Given the description of an element on the screen output the (x, y) to click on. 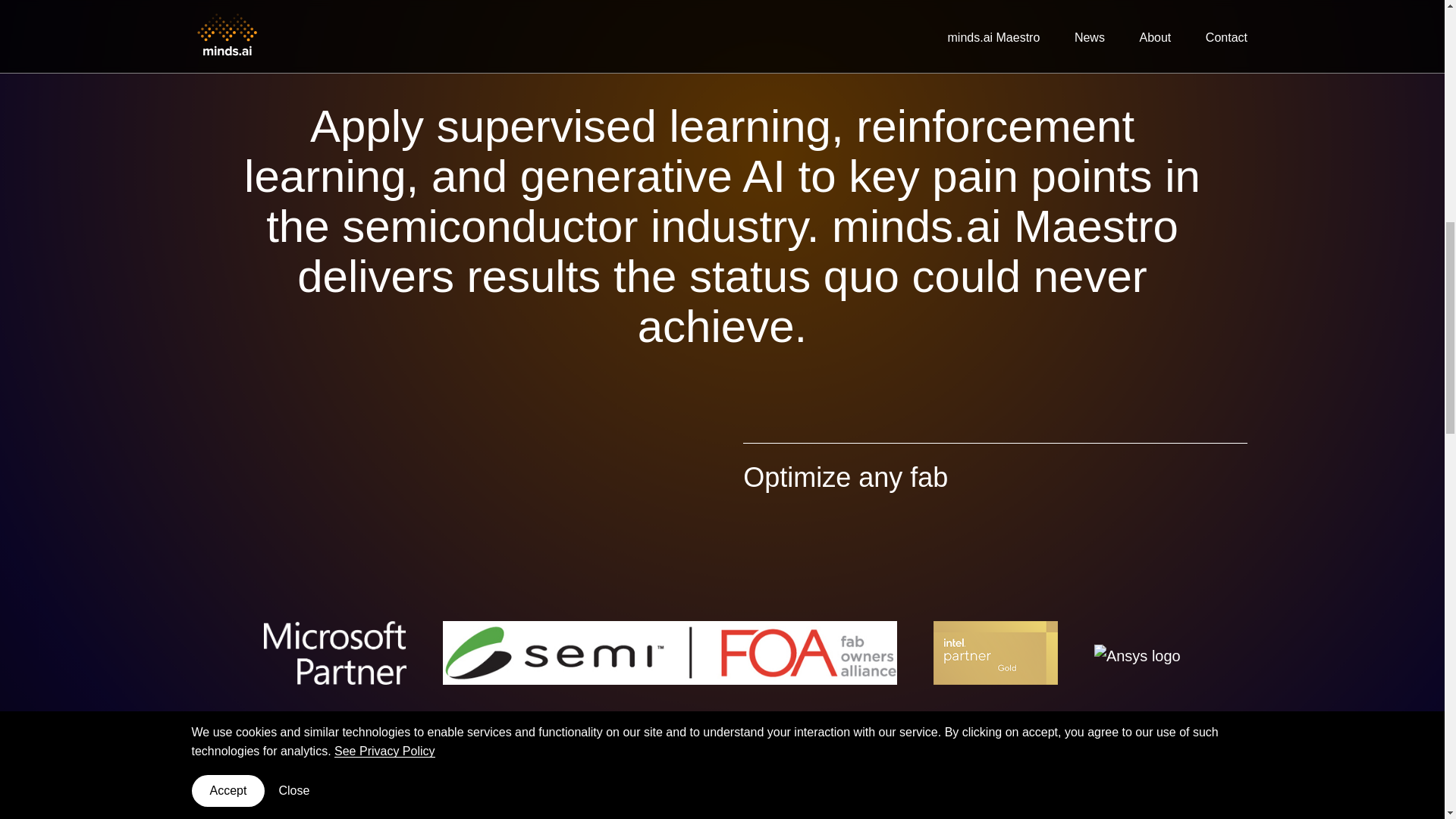
Optimize any fab (844, 477)
View all (1208, 809)
